Given the description of an element on the screen output the (x, y) to click on. 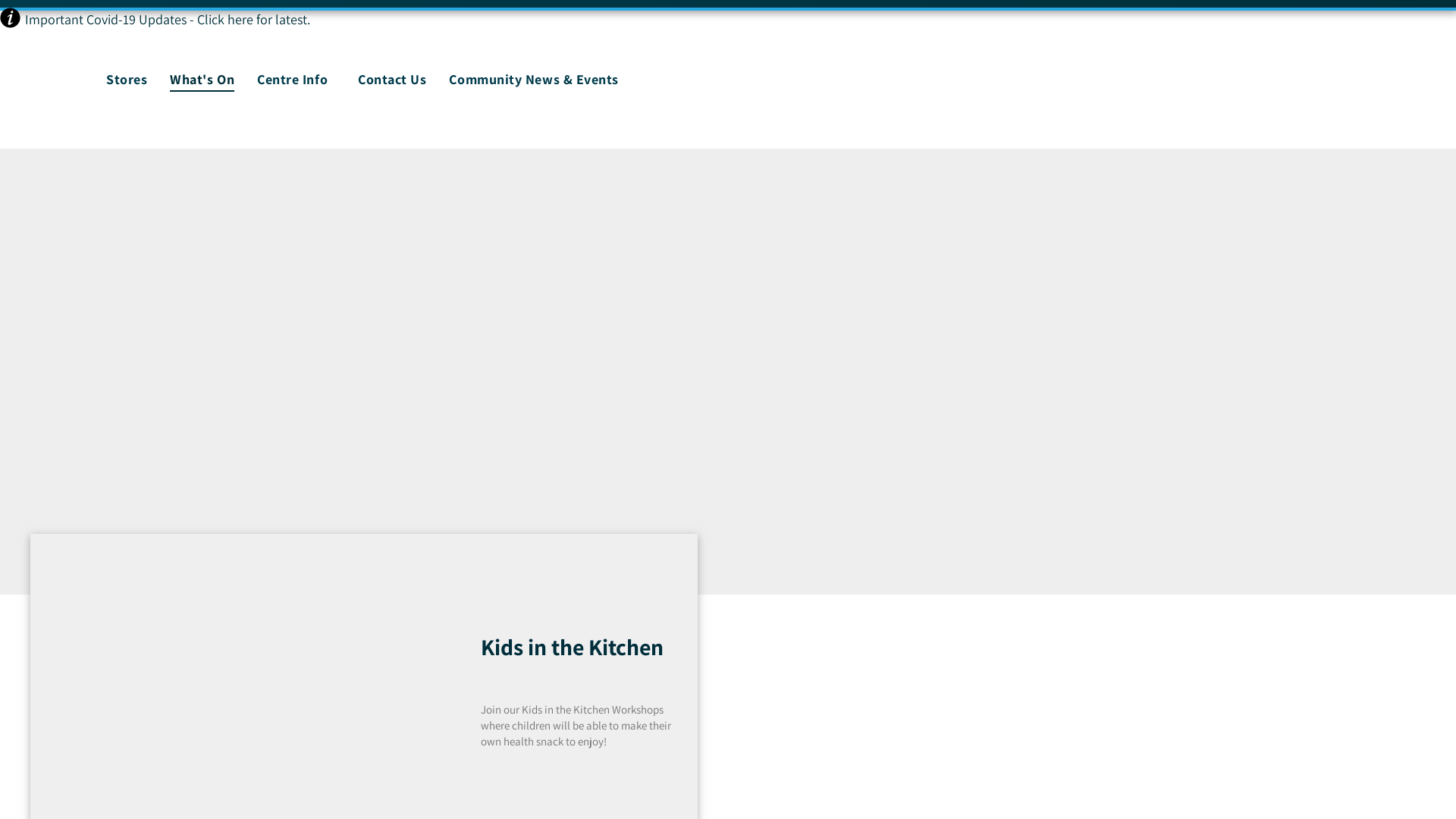
Community News & Events Element type: text (533, 78)
Contact Us Element type: text (391, 78)
Stores Element type: text (126, 78)
Click here for latest Element type: text (252, 19)
Kids in the Kitchen Element type: text (585, 647)
. Element type: text (308, 19)
What's On Element type: text (201, 78)
Centre Info Element type: text (295, 78)
